Given the description of an element on the screen output the (x, y) to click on. 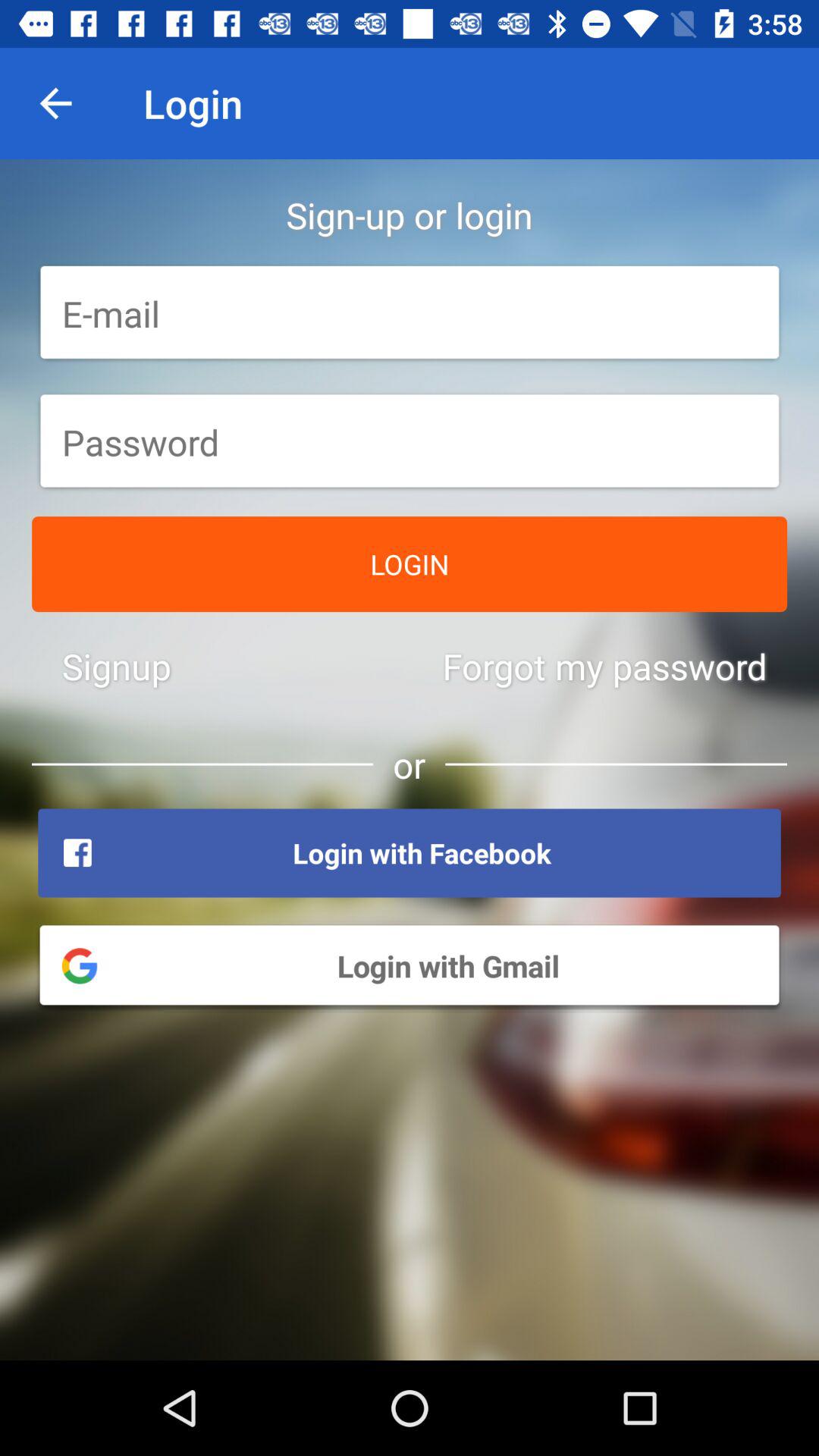
turn on item next to the signup (604, 665)
